Given the description of an element on the screen output the (x, y) to click on. 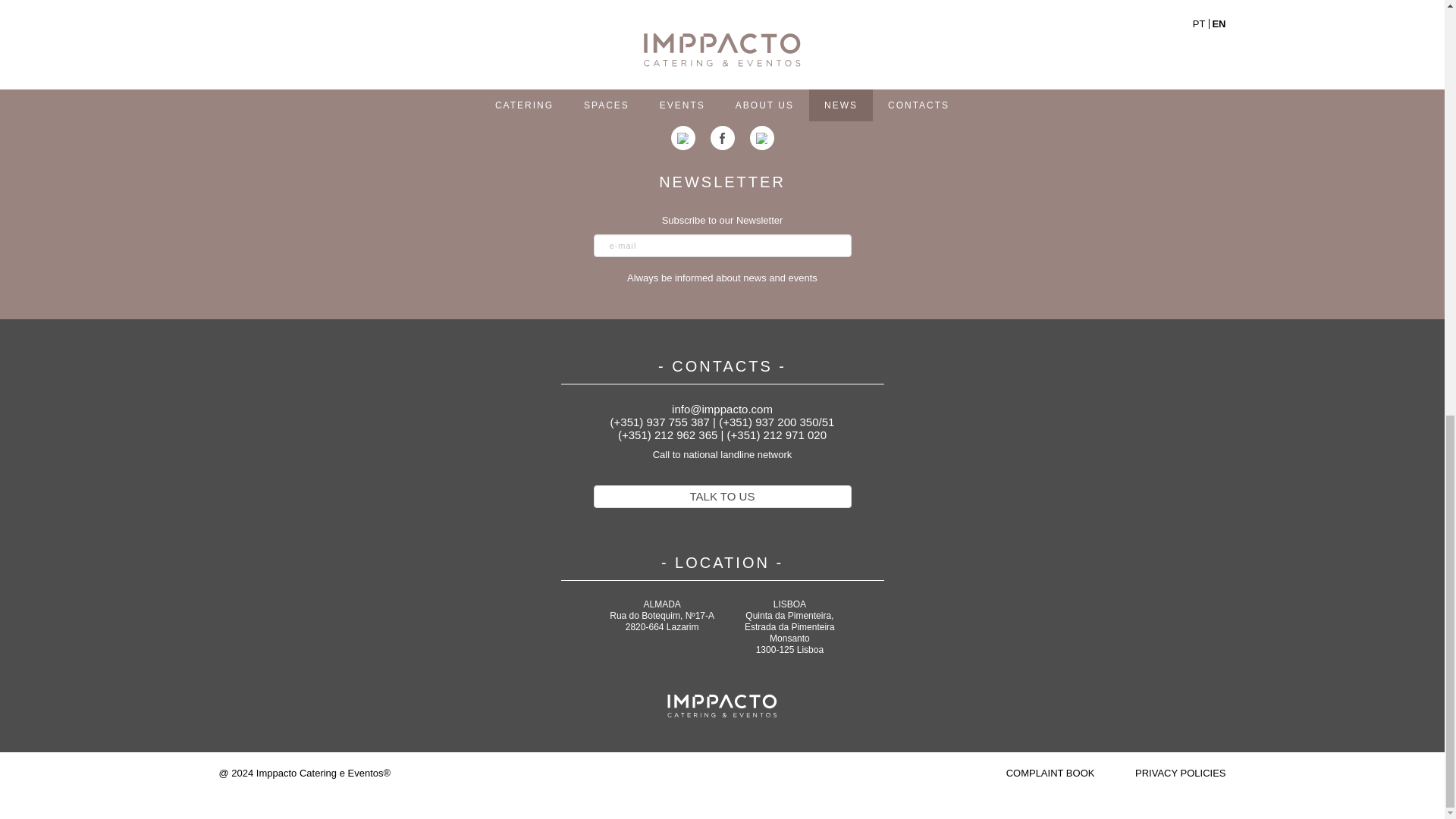
TALK TO US (721, 496)
COMPLAINT BOOK (1051, 772)
PRIVACY POLICIES (1180, 772)
